Given the description of an element on the screen output the (x, y) to click on. 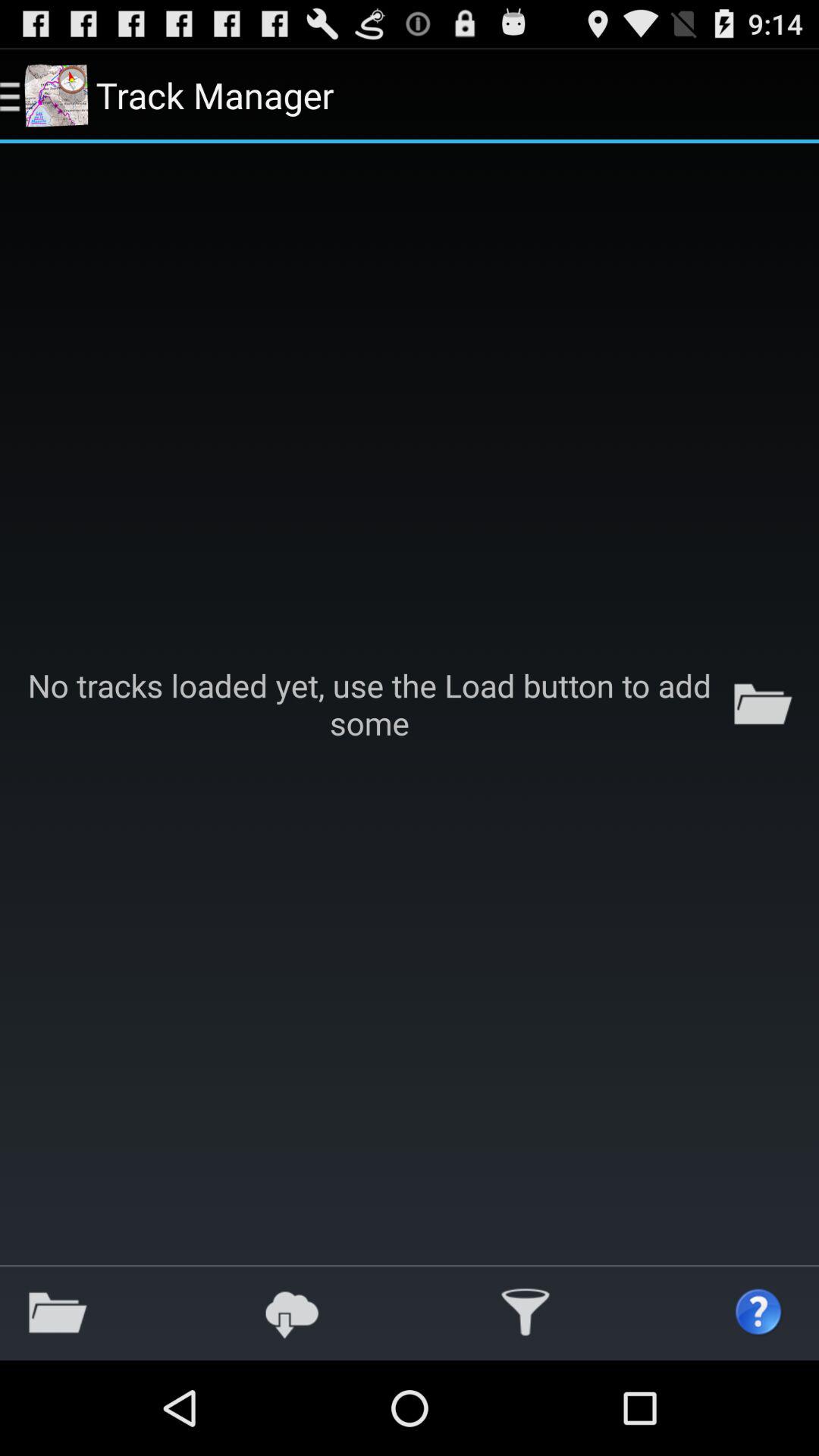
select icon below no tracks loaded app (58, 1312)
